Given the description of an element on the screen output the (x, y) to click on. 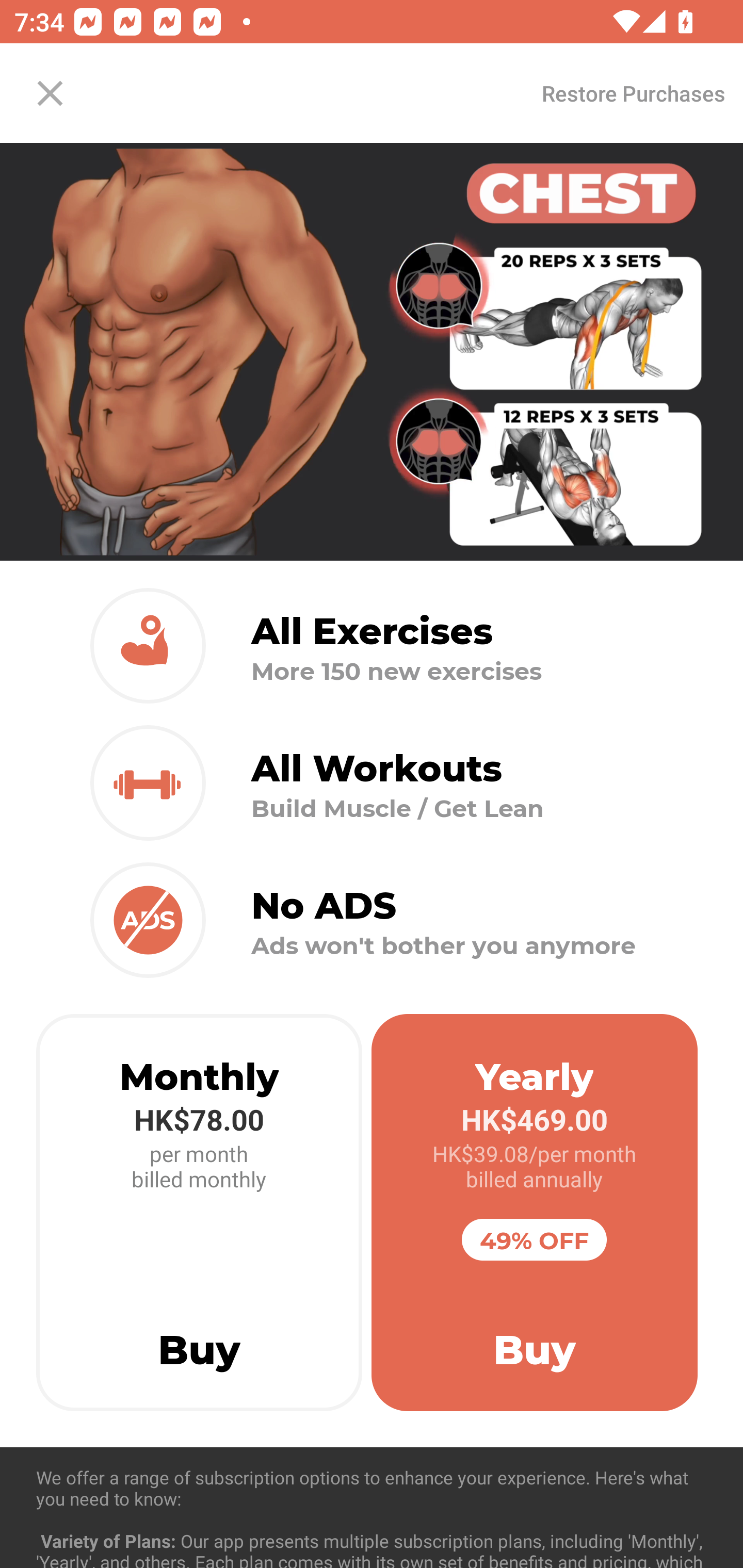
Restore Purchases (632, 92)
Monthly HK$78.00 per month
billed monthly Buy (199, 1212)
